Given the description of an element on the screen output the (x, y) to click on. 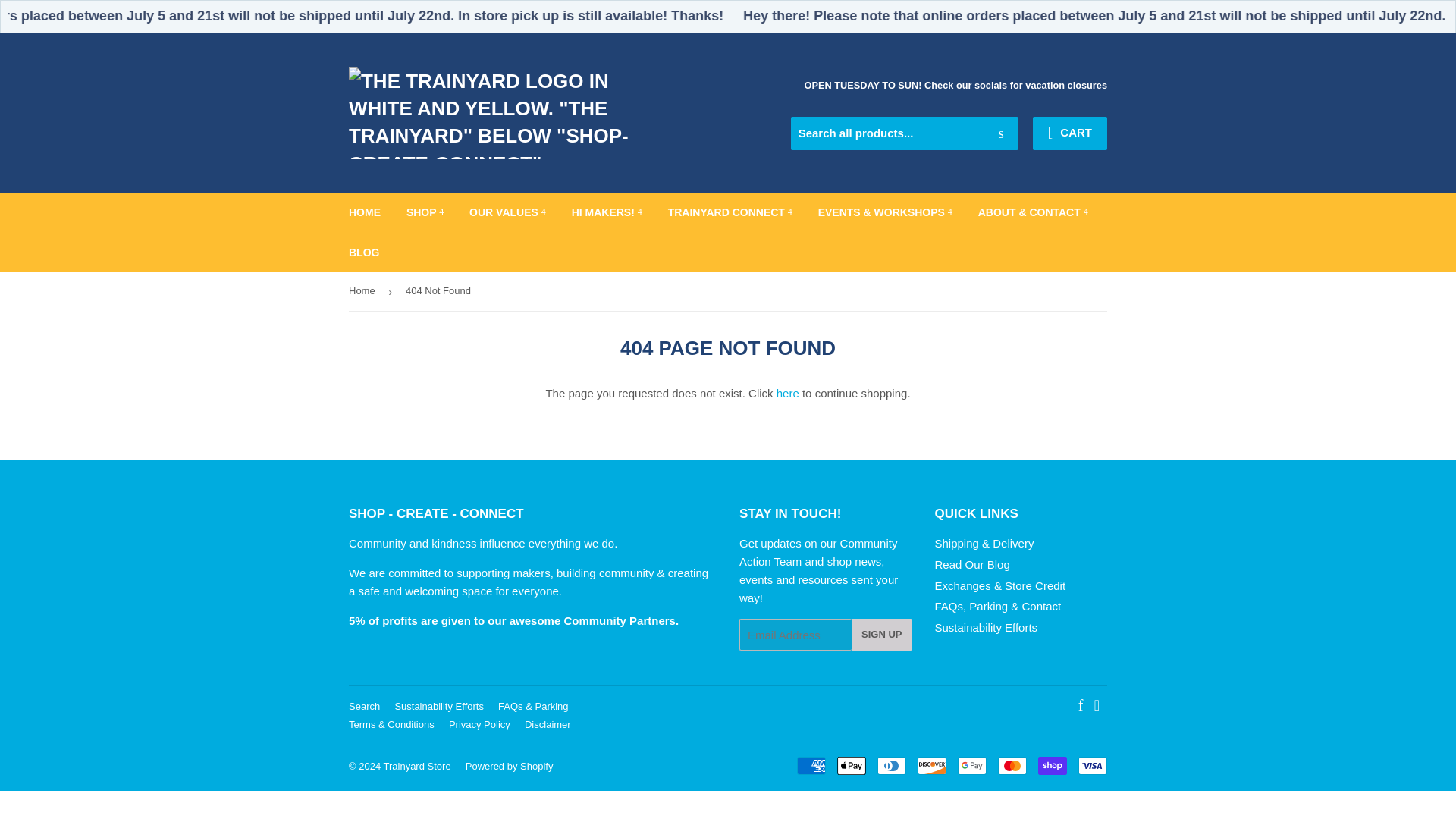
Visa (1092, 765)
Search (1000, 133)
Shop Pay (1052, 765)
Apple Pay (851, 765)
American Express (810, 765)
Discover (931, 765)
OPEN TUESDAY TO SUN! Check our socials for vacation closures (955, 85)
CART (1069, 133)
Mastercard (1011, 765)
Diners Club (891, 765)
Google Pay (972, 765)
